Given the description of an element on the screen output the (x, y) to click on. 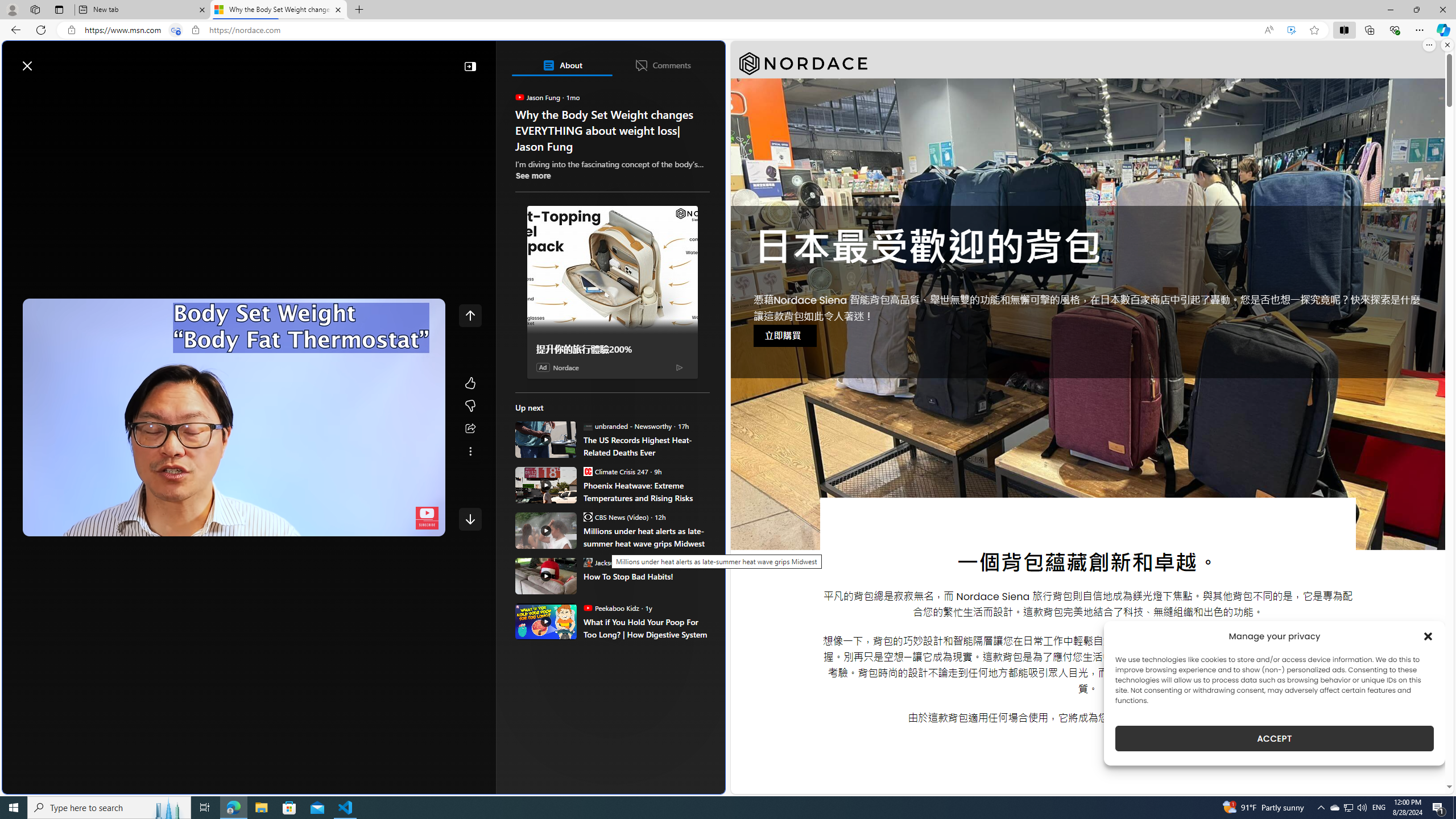
Climate Crisis 247 (587, 470)
Class: control icon-only (469, 315)
Enhance video (1291, 29)
Microsoft Start (53, 60)
Pause (k) (42, 525)
The Best Gift That a Traveler Can Receive (616, 226)
Like (469, 382)
Watch on YouTube (396, 525)
Share this story (469, 428)
Close (1442, 9)
The US Records Highest Heat-Related Deaths Ever (545, 438)
